Given the description of an element on the screen output the (x, y) to click on. 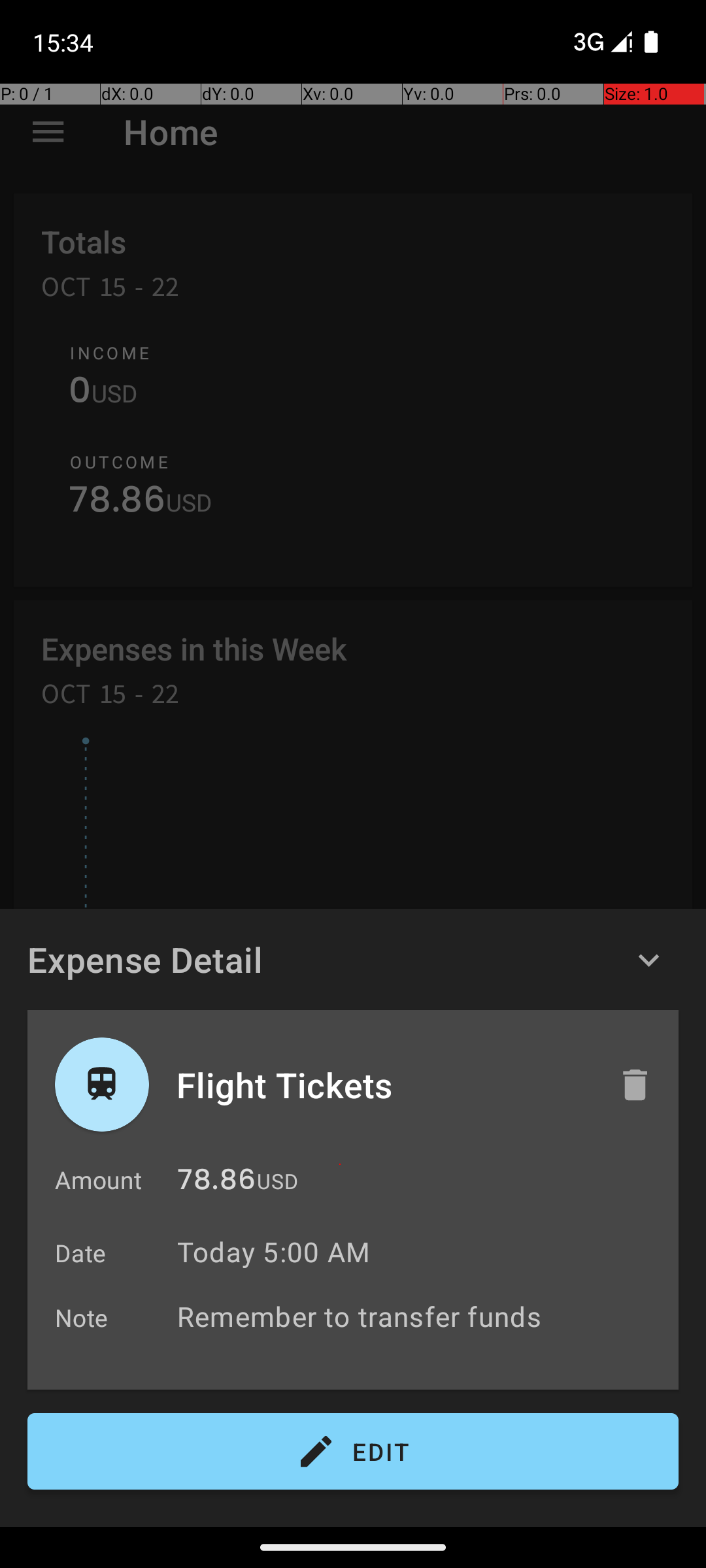
Flight Tickets Element type: android.widget.TextView (383, 1084)
78.86 Element type: android.widget.TextView (216, 1182)
Today 5:00 AM Element type: android.widget.TextView (273, 1251)
Remember to transfer funds Element type: android.widget.TextView (420, 1315)
